Given the description of an element on the screen output the (x, y) to click on. 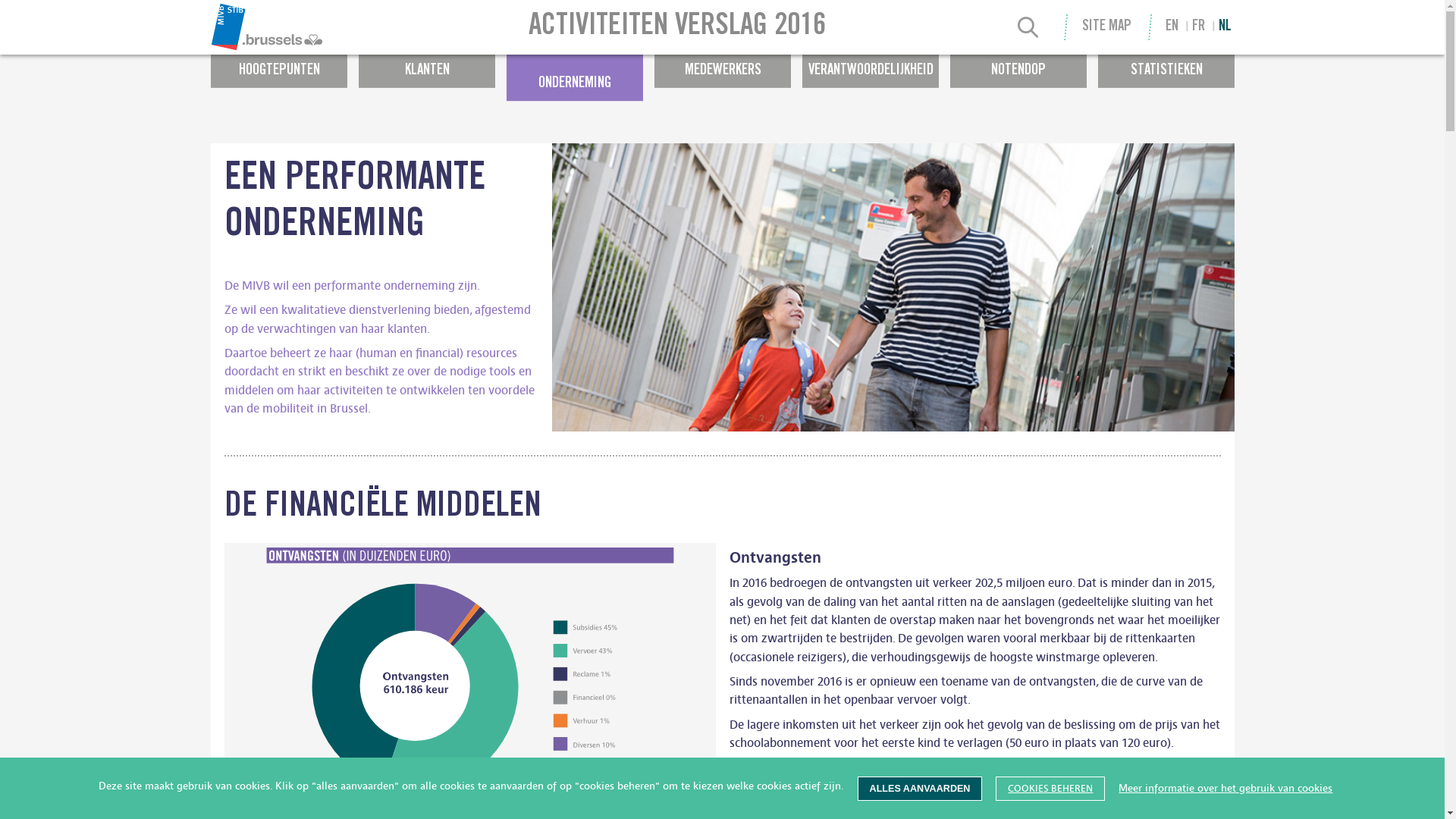
COOKIES BEHEREN Element type: text (1049, 788)
MEDEWERKERS Element type: text (721, 63)
STATISTIEKEN Element type: text (1166, 63)
KLANTEN Element type: text (425, 63)
Underground festival in 15 stations Element type: text (343, 19)
Search Element type: hover (1028, 29)
ALLES AANVAARDEN Element type: text (919, 788)
VERANTWOORDELIJKHEID Element type: text (870, 63)
Meer informatie over het gebruik van cookies Element type: text (1225, 787)
FR Element type: text (1198, 26)
ONDERNEMING Element type: text (574, 76)
NL Element type: text (1224, 26)
EN Element type: text (1172, 26)
HOOGTEPUNTEN Element type: text (278, 63)
NOTENDOP Element type: text (1017, 63)
